Given the description of an element on the screen output the (x, y) to click on. 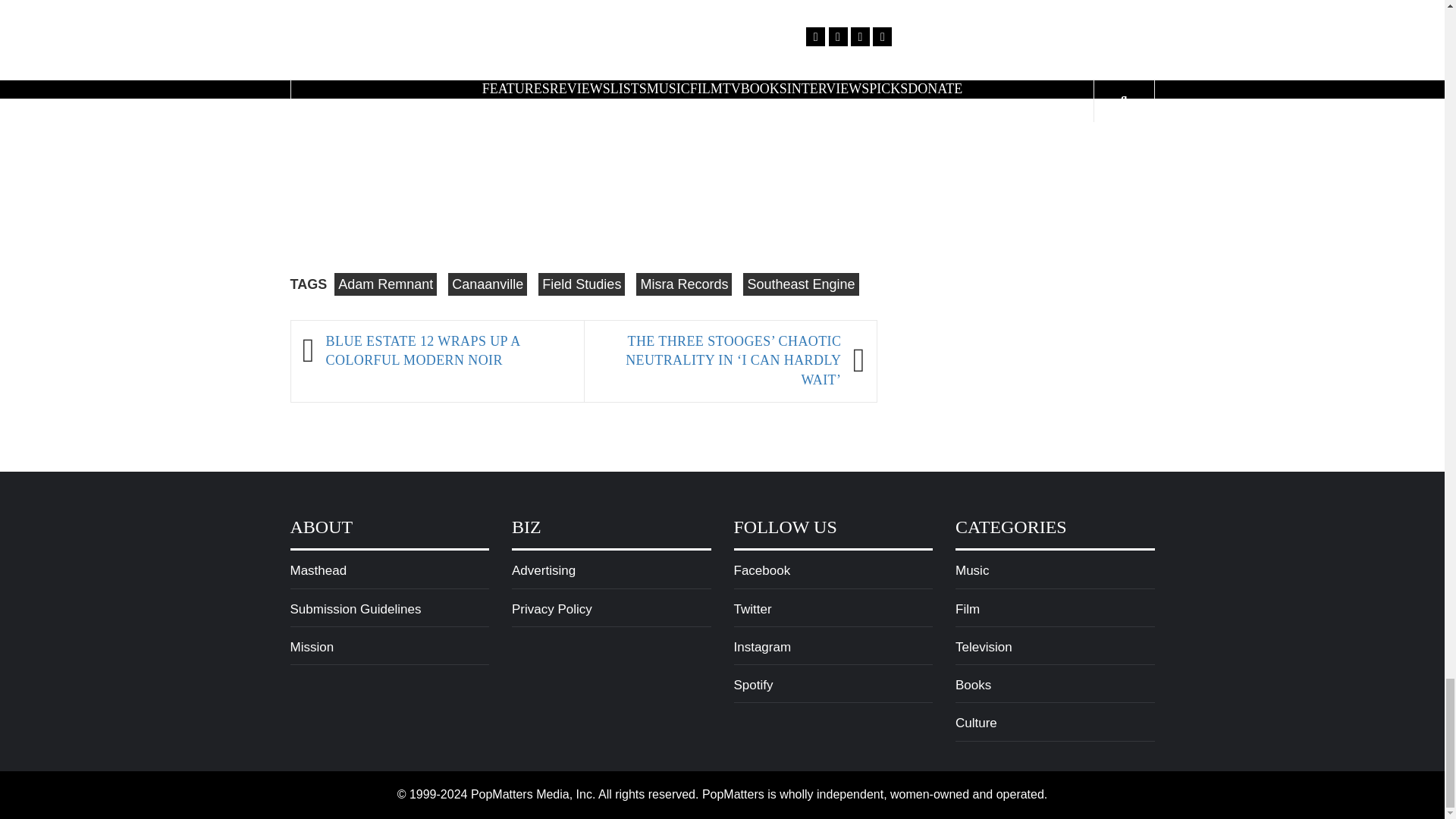
Field Studies (581, 283)
Southeast Engine (800, 283)
Adam Remnant (385, 283)
Misra Records (684, 283)
BLUE ESTATE 12 WRAPS UP A COLORFUL MODERN NOIR (446, 351)
Canaanville (487, 283)
